Given the description of an element on the screen output the (x, y) to click on. 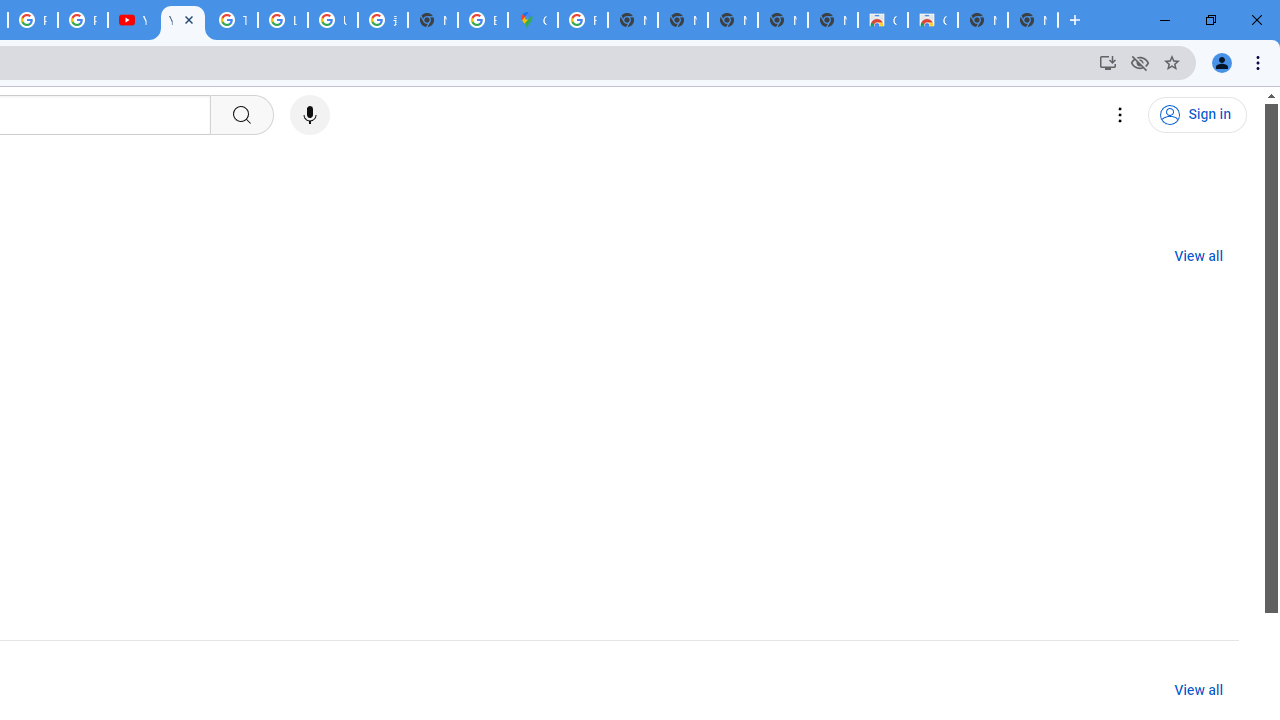
Classic Blue - Chrome Web Store (932, 20)
Google Maps (533, 20)
YouTube (132, 20)
Classic Blue - Chrome Web Store (882, 20)
YouTube (182, 20)
New Tab (433, 20)
Search with your voice (309, 115)
